Given the description of an element on the screen output the (x, y) to click on. 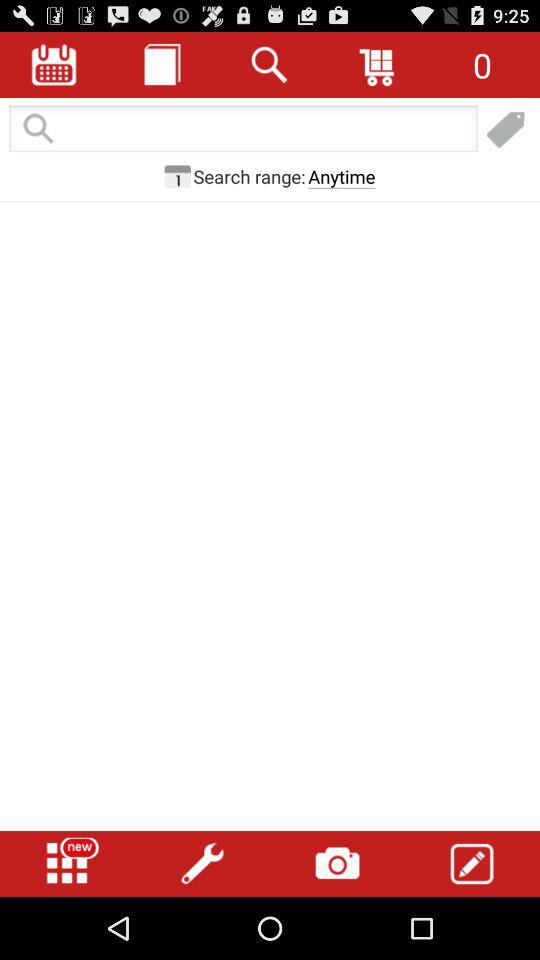
configurations (202, 863)
